Given the description of an element on the screen output the (x, y) to click on. 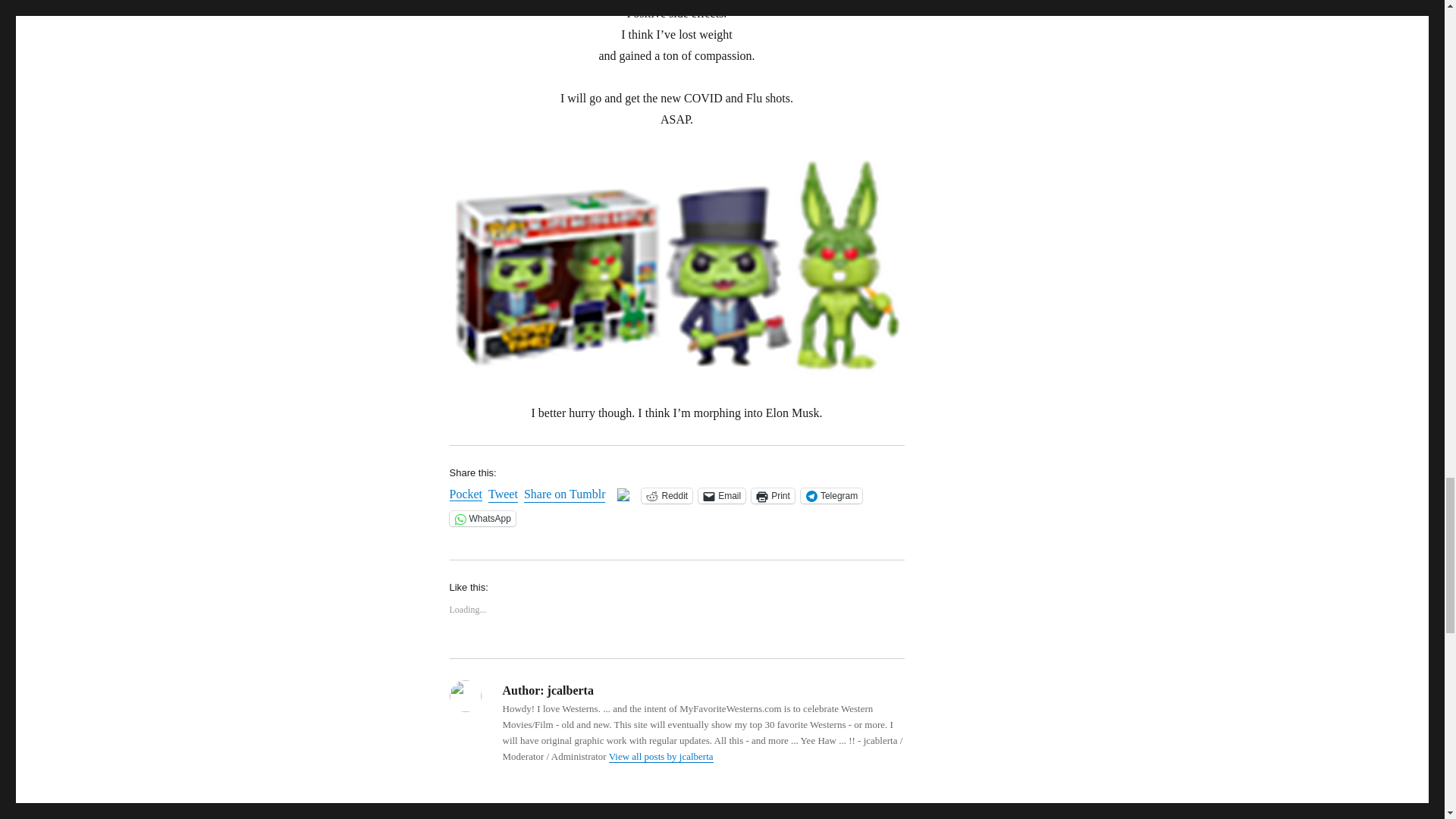
Click to share on WhatsApp (481, 518)
Click to share on Telegram (830, 495)
Share on Tumblr (564, 495)
Click to print (772, 495)
Click to share on Reddit (667, 495)
Click to email a link to a friend (721, 495)
